Given the description of an element on the screen output the (x, y) to click on. 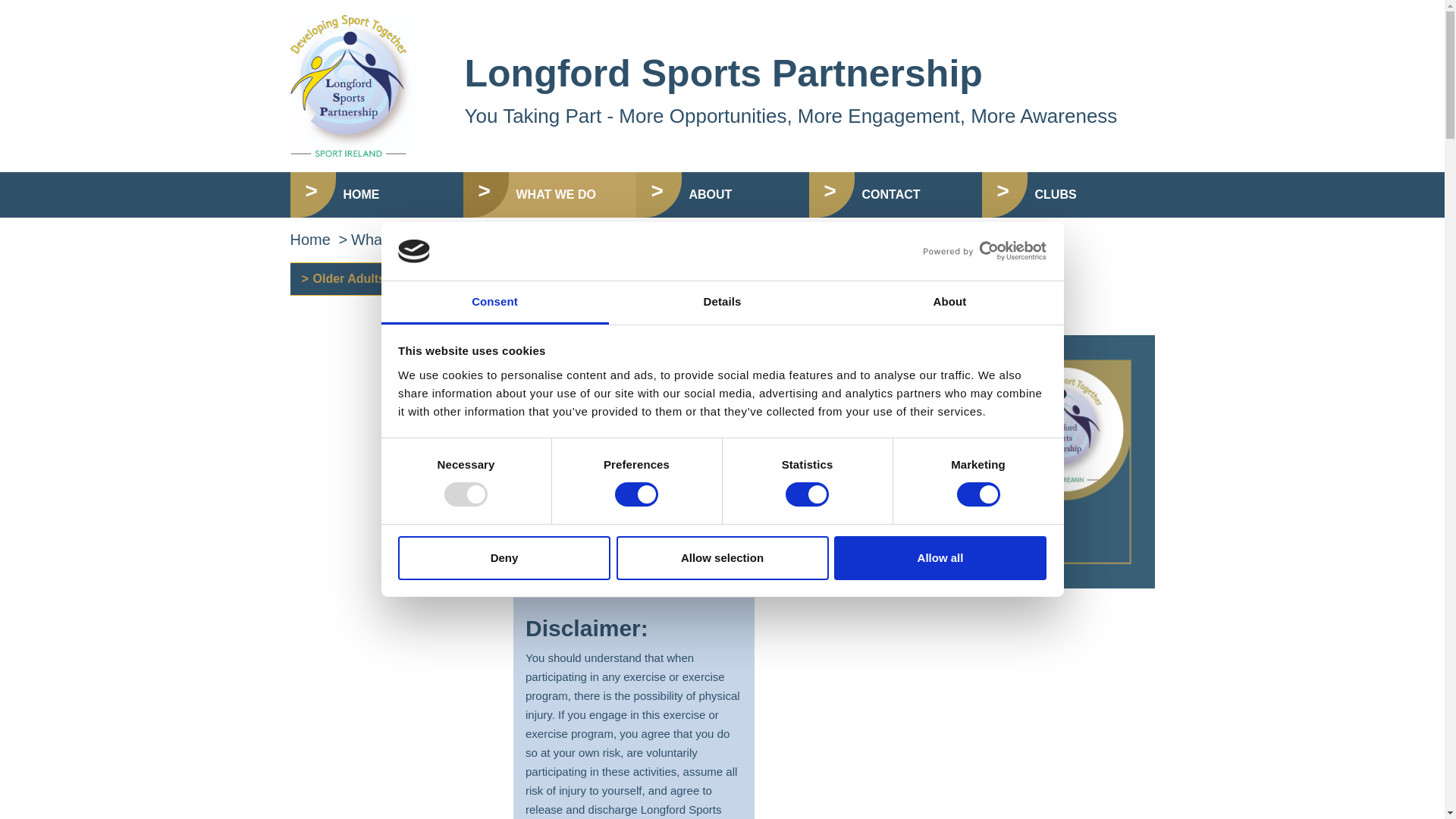
Details (721, 302)
Allow selection (721, 557)
HOME (376, 194)
About (948, 302)
WHAT WE DO (548, 194)
Consent (494, 302)
Allow all (940, 557)
Deny (503, 557)
You are at this page (389, 279)
